Given the description of an element on the screen output the (x, y) to click on. 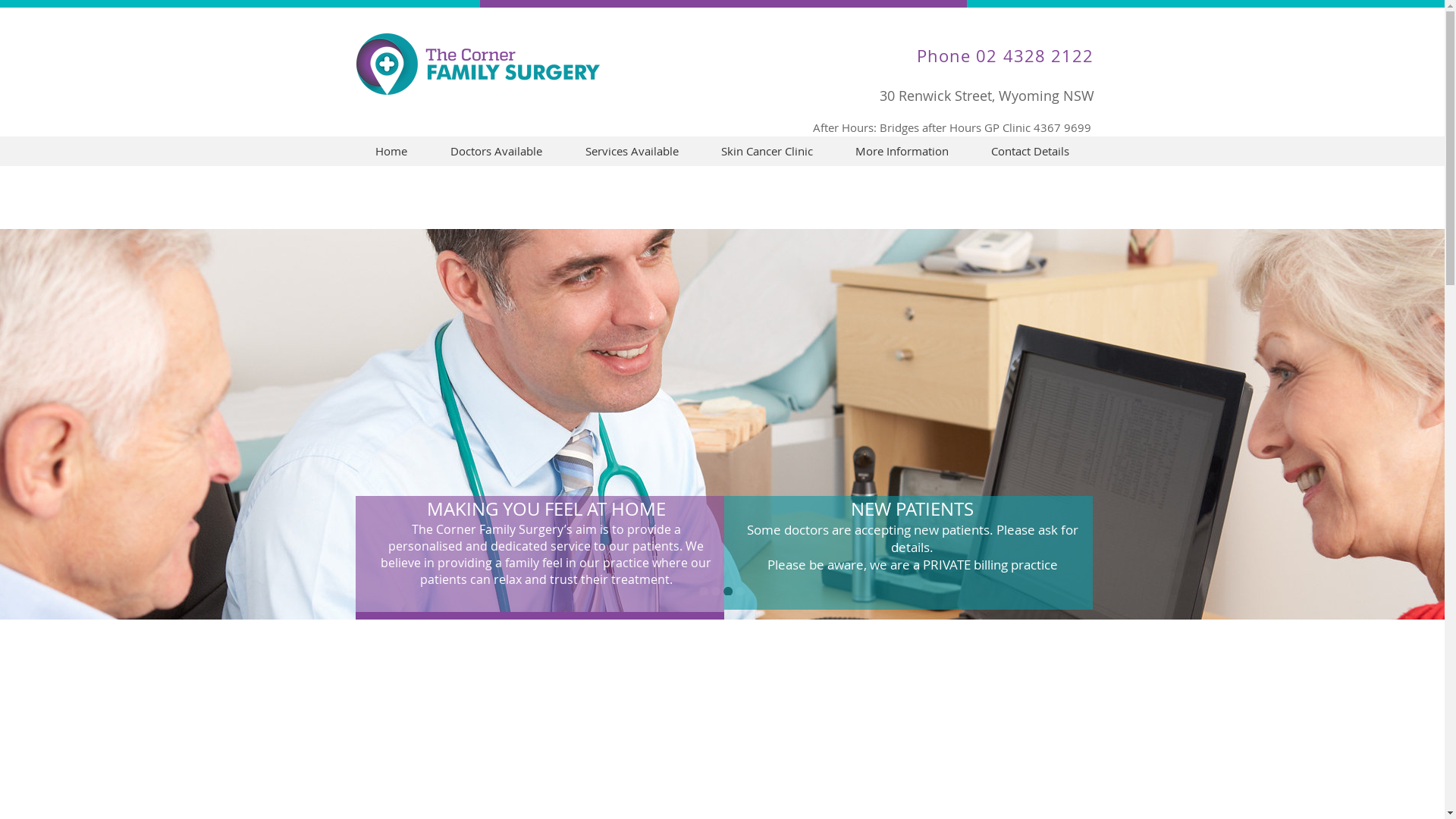
More Information Element type: text (901, 150)
Services Available Element type: text (631, 150)
Doctors Available Element type: text (496, 150)
Skin Cancer Clinic Element type: text (766, 150)
Contact Details Element type: text (1029, 150)
Phone 02 4328 2122 Element type: text (1005, 55)
Home Element type: text (390, 150)
